Given the description of an element on the screen output the (x, y) to click on. 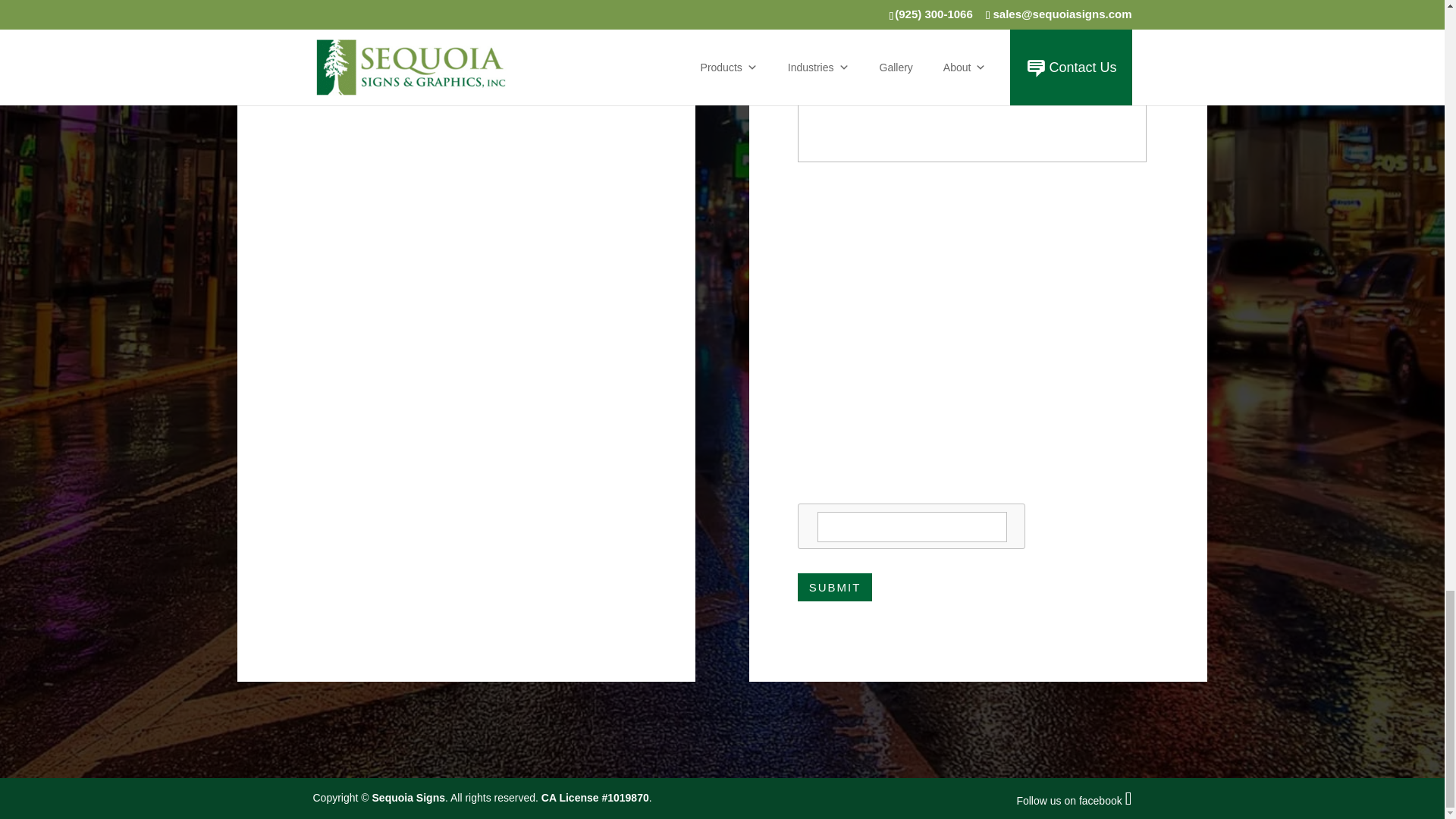
Submit (834, 587)
